Given the description of an element on the screen output the (x, y) to click on. 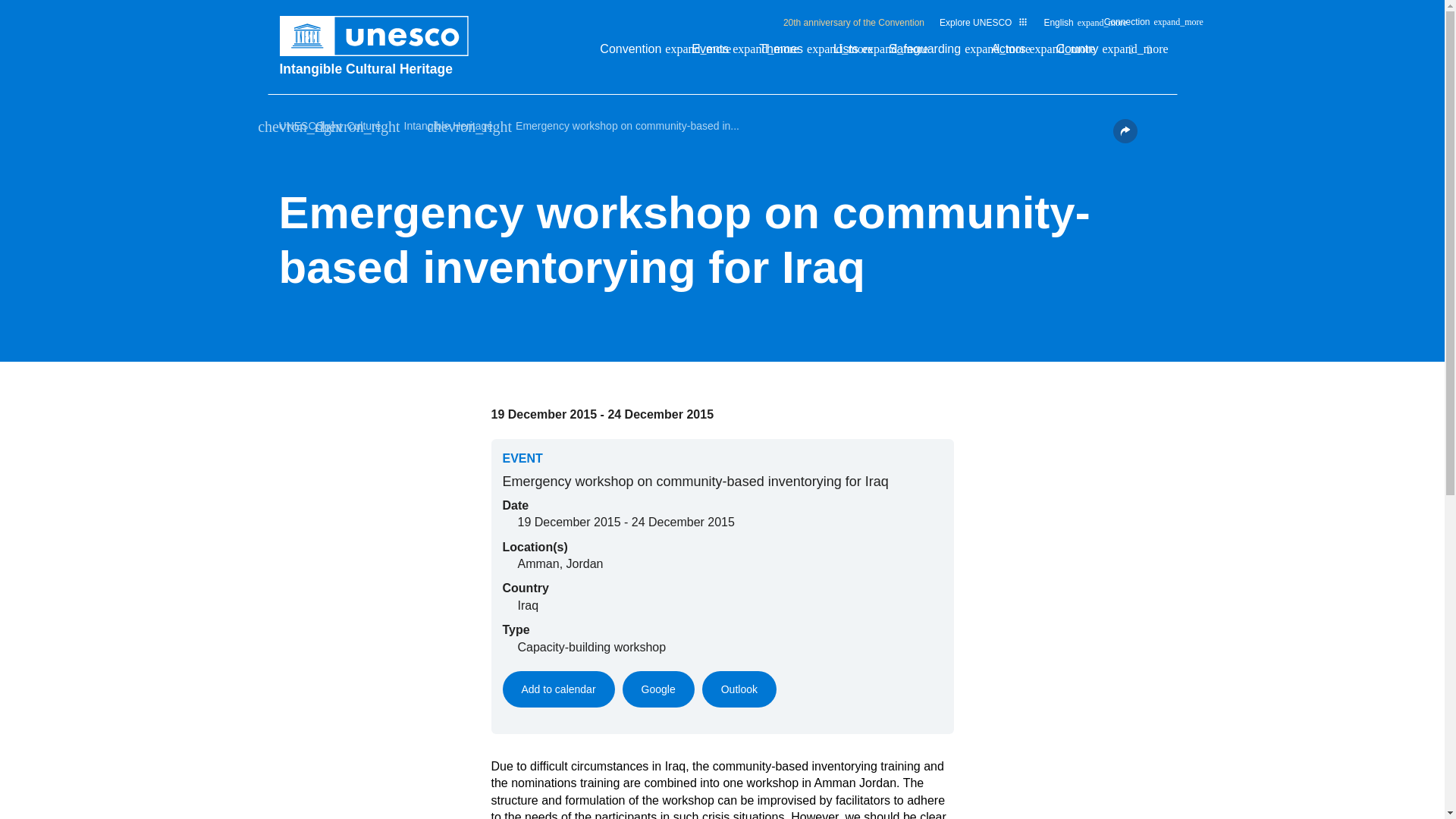
Intangible Cultural Heritage (381, 68)
Publications (1130, 50)
Themes (788, 52)
Explore UNESCO (983, 22)
Safeguarding (931, 52)
Country (1084, 52)
Actors (1016, 52)
Events (717, 52)
Events (717, 52)
English (1065, 26)
Link to UNESCO portal (381, 35)
Convention (638, 52)
Connection (1134, 26)
Convention (638, 52)
Lists (852, 52)
